Given the description of an element on the screen output the (x, y) to click on. 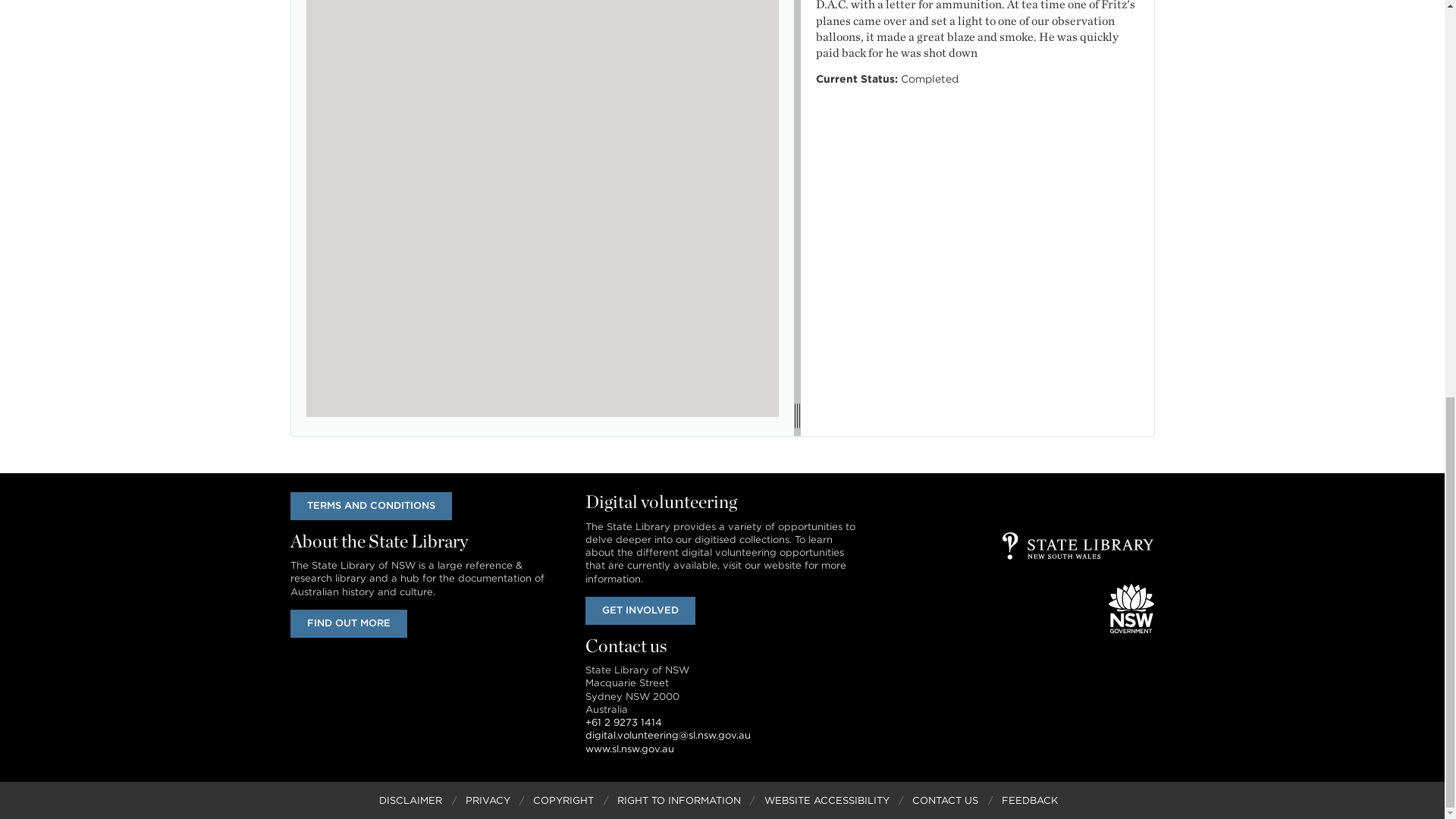
State Library of NSW (1078, 546)
NSW Government (1131, 608)
